Given the description of an element on the screen output the (x, y) to click on. 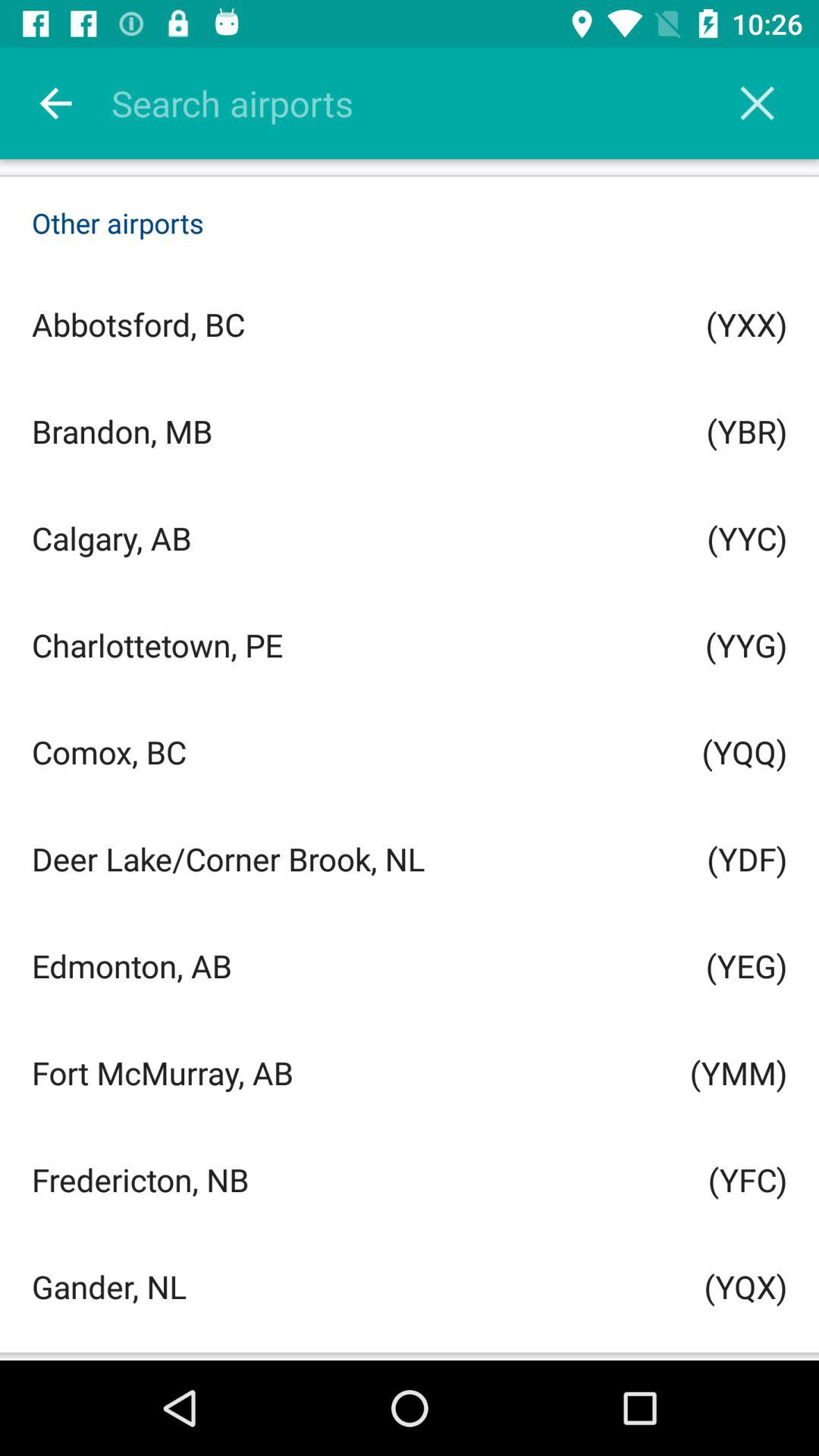
open search field (429, 103)
